Given the description of an element on the screen output the (x, y) to click on. 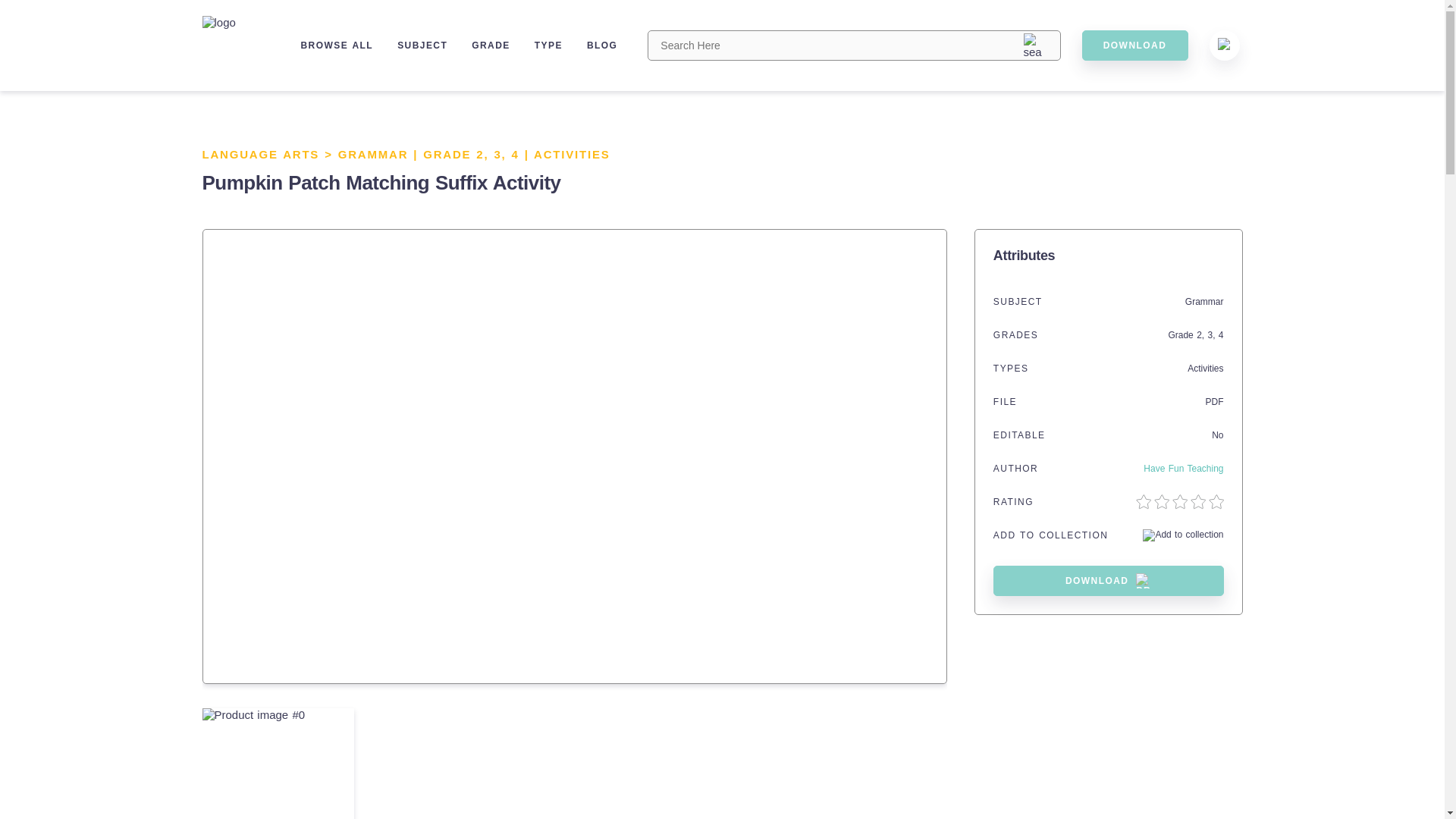
2, (484, 154)
2, (1201, 335)
BLOG (601, 45)
ACTIVITIES (572, 154)
3, (1212, 335)
3, (502, 154)
DOWNLOAD (1108, 580)
Have Fun Teaching (1182, 468)
DOWNLOAD (1134, 45)
Grammar (1204, 301)
